Given the description of an element on the screen output the (x, y) to click on. 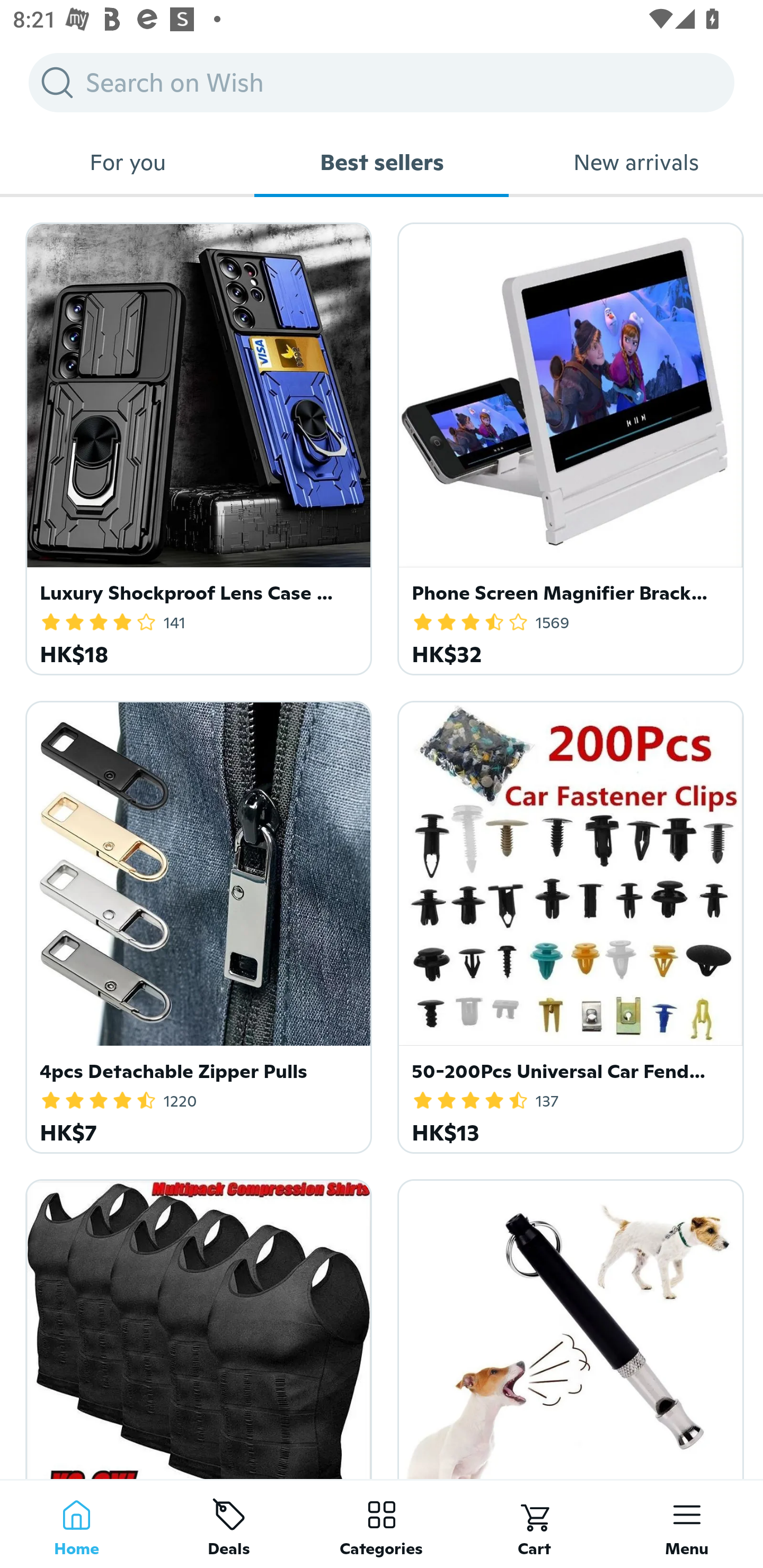
Search on Wish (381, 82)
For you (127, 161)
Best sellers (381, 161)
New arrivals (635, 161)
Home (76, 1523)
Deals (228, 1523)
Categories (381, 1523)
Cart (533, 1523)
Menu (686, 1523)
